Given the description of an element on the screen output the (x, y) to click on. 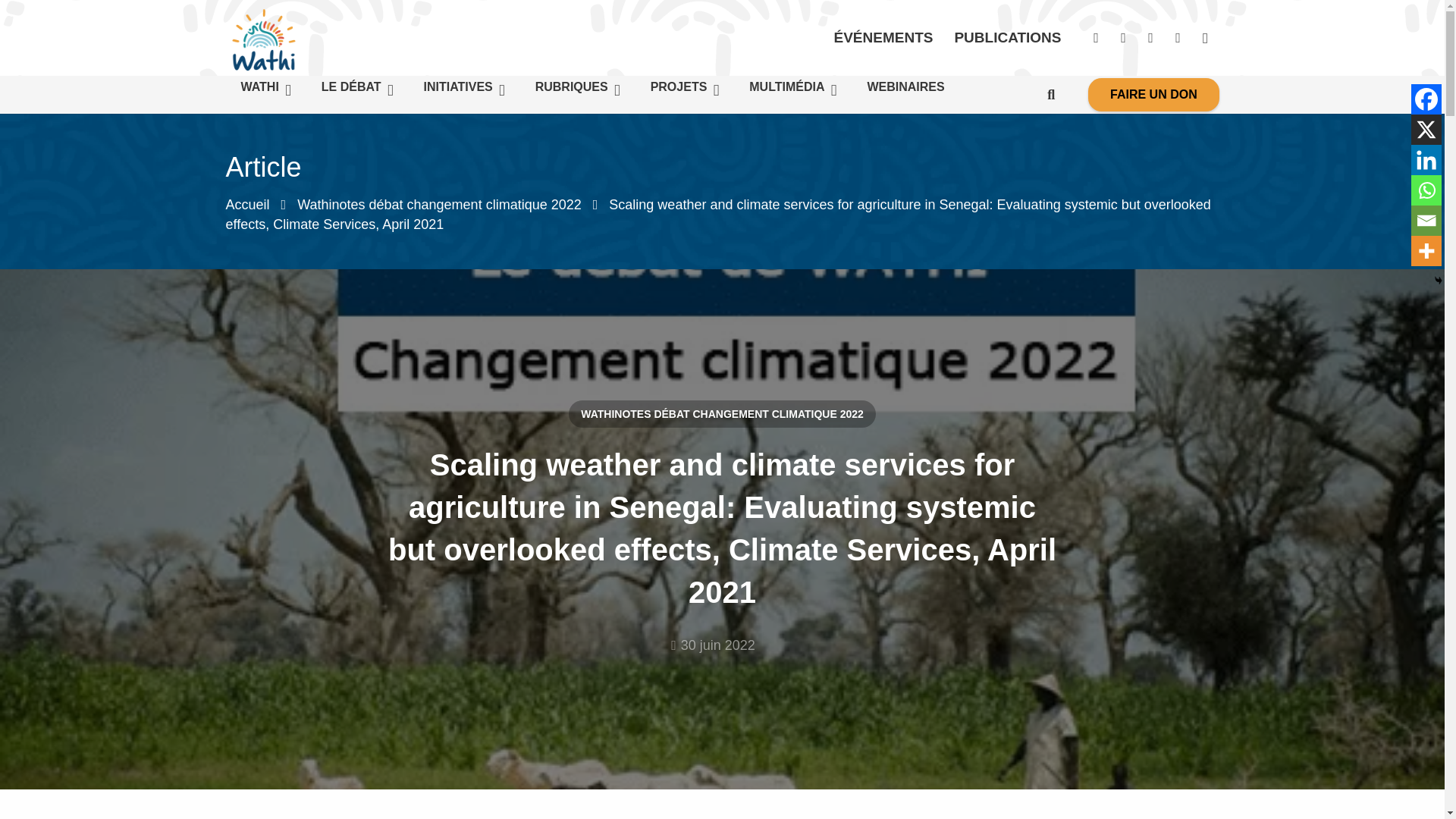
Linkedin (1425, 159)
X (1425, 129)
More (1425, 250)
WATHI (265, 90)
PUBLICATIONS (1007, 38)
Whatsapp (1425, 190)
Email (1425, 220)
Facebook (1425, 99)
INITIATIVES (464, 90)
